Given the description of an element on the screen output the (x, y) to click on. 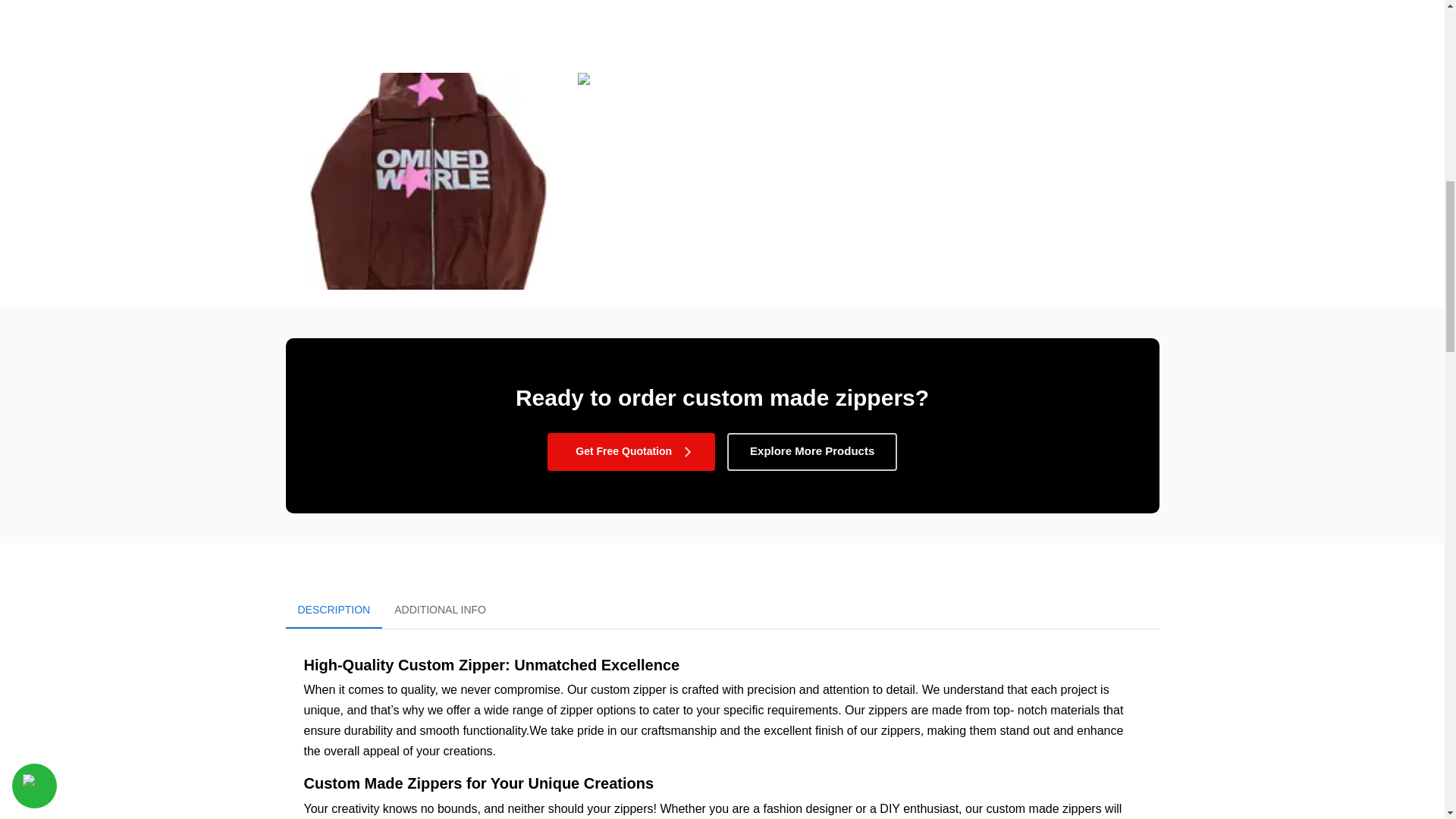
DESCRIPTION (333, 610)
Get Free Quotation (721, 610)
ADDITIONAL INFO (630, 451)
Explore More Products (439, 610)
